Given the description of an element on the screen output the (x, y) to click on. 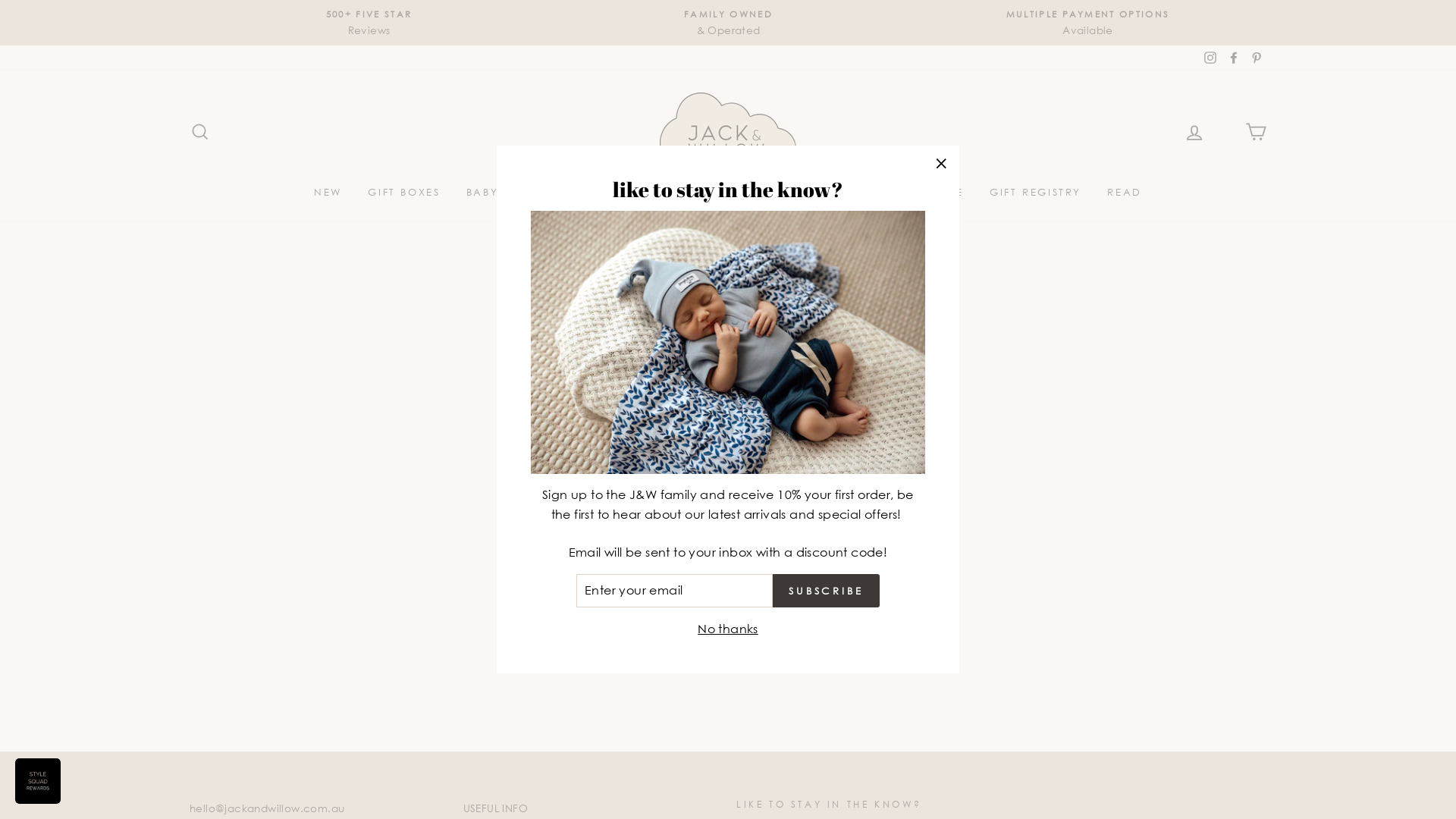
Continue shopping Element type: text (727, 411)
SEARCH Element type: text (199, 131)
CART Element type: text (1255, 131)
LOG IN Element type: text (1194, 131)
LIFESTYLE Element type: text (554, 191)
NEW Element type: text (327, 191)
GIFT BOXES Element type: text (403, 191)
BANWOOD Element type: text (873, 191)
Pinterest Element type: text (1256, 57)
Skip to content Element type: text (0, 0)
BABY Element type: text (482, 191)
GIFT REGISTRY Element type: text (1035, 191)
INTERIORS Element type: text (781, 191)
READ Element type: text (1123, 191)
TOYS Element type: text (625, 191)
FASHION Element type: text (694, 191)
Facebook Element type: text (1233, 57)
"Close (esc)" Element type: text (940, 163)
SUBSCRIBE Element type: text (825, 590)
Smile.io Rewards Program Launcher Element type: hover (37, 780)
No thanks Element type: text (727, 629)
SALE Element type: text (948, 191)
Instagram Element type: text (1210, 57)
